Given the description of an element on the screen output the (x, y) to click on. 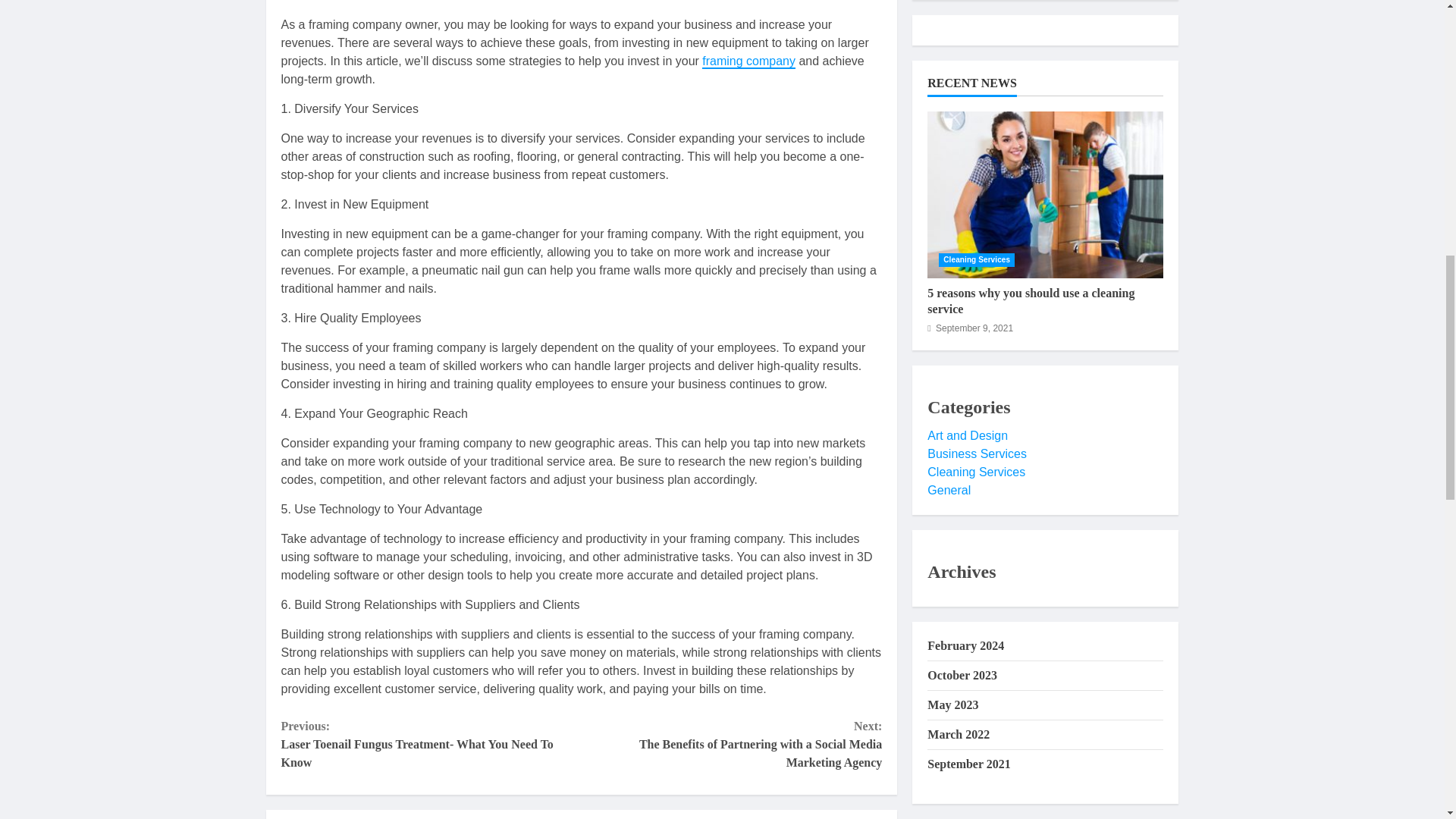
Business Services (976, 6)
framing company (747, 61)
